Given the description of an element on the screen output the (x, y) to click on. 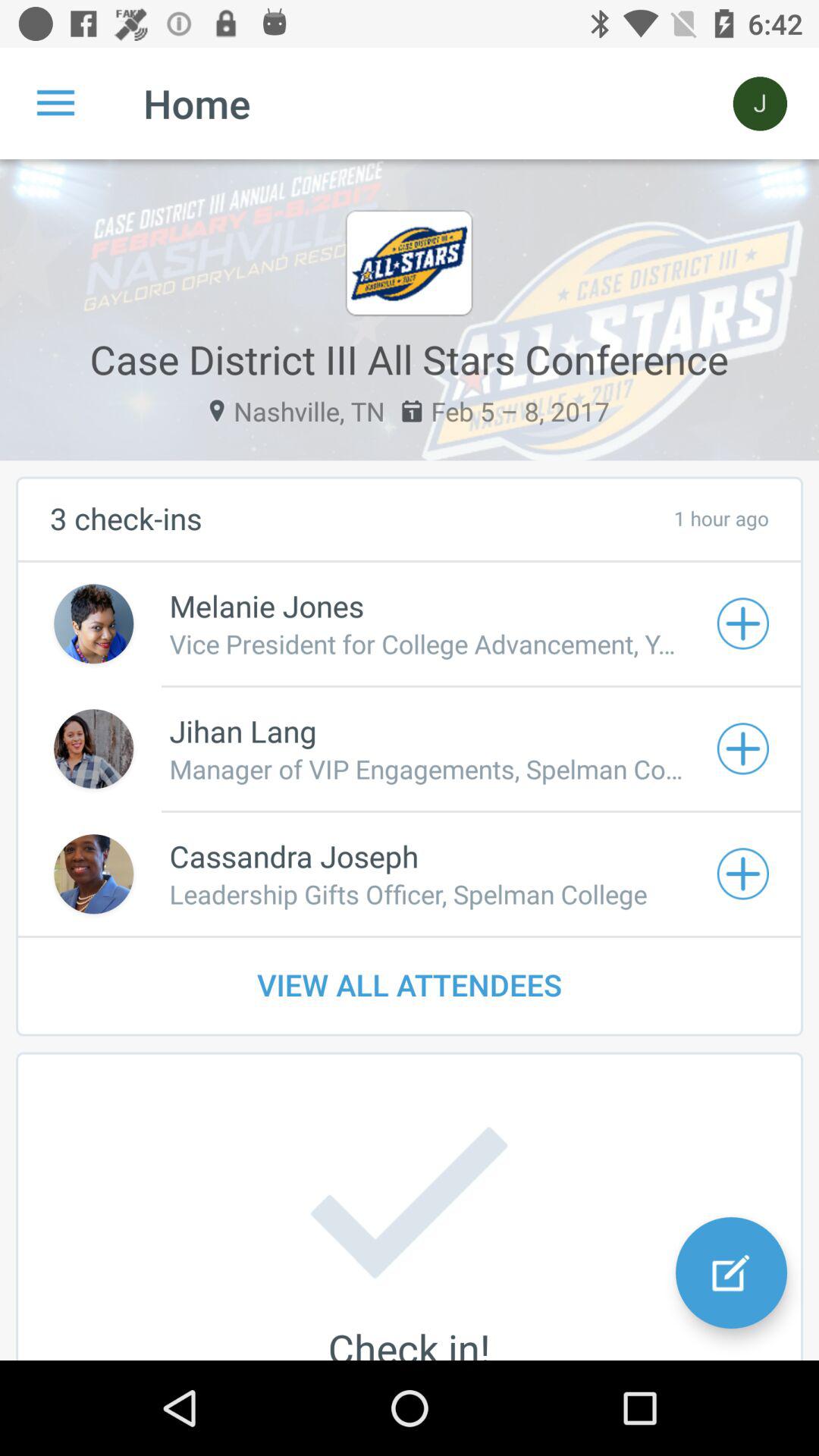
swipe until the view all attendees item (409, 984)
